Given the description of an element on the screen output the (x, y) to click on. 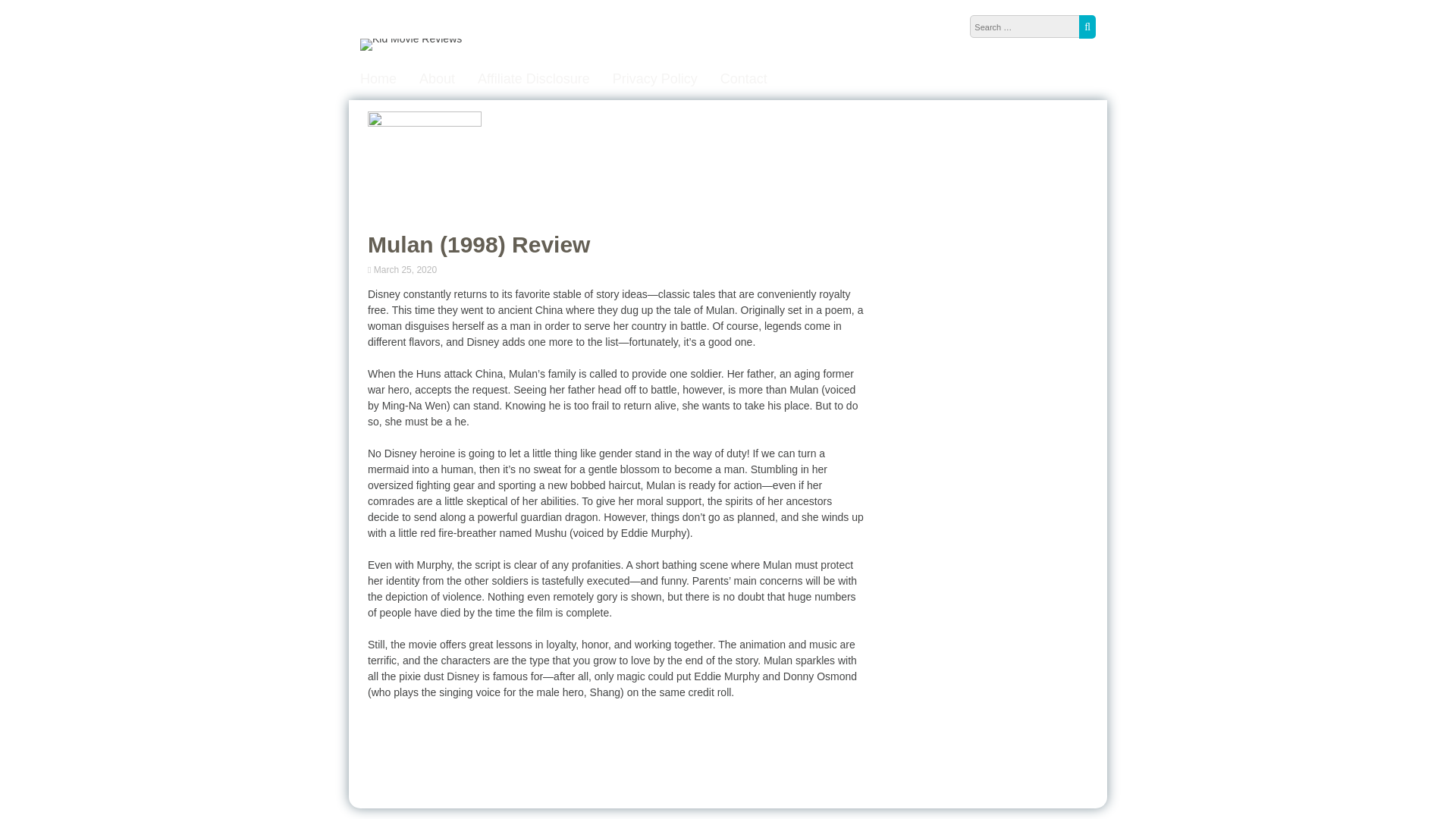
Affiliate Disclosure (533, 79)
Contact (743, 79)
Kid Movie Reviews (410, 38)
March 25, 2020 (406, 269)
About (436, 79)
Privacy Policy (654, 79)
Home (377, 79)
